Given the description of an element on the screen output the (x, y) to click on. 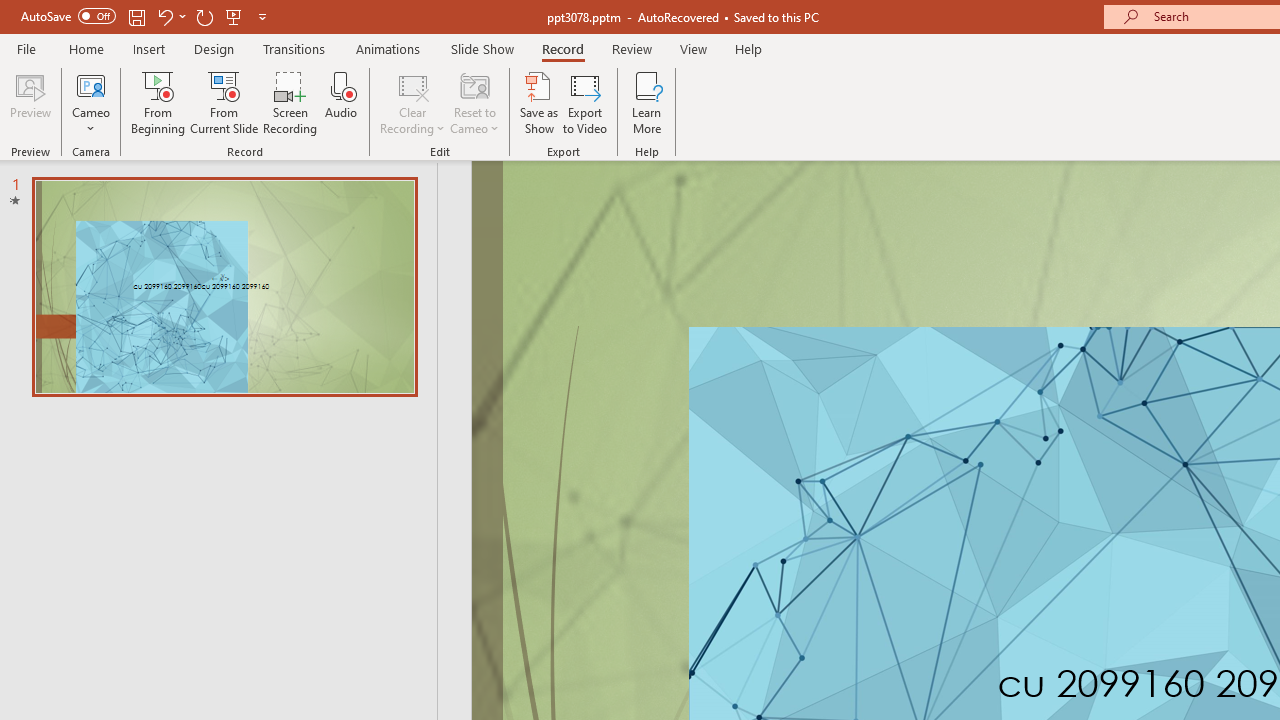
Cameo (91, 84)
Preview (30, 102)
From Current Slide... (224, 102)
